Given the description of an element on the screen output the (x, y) to click on. 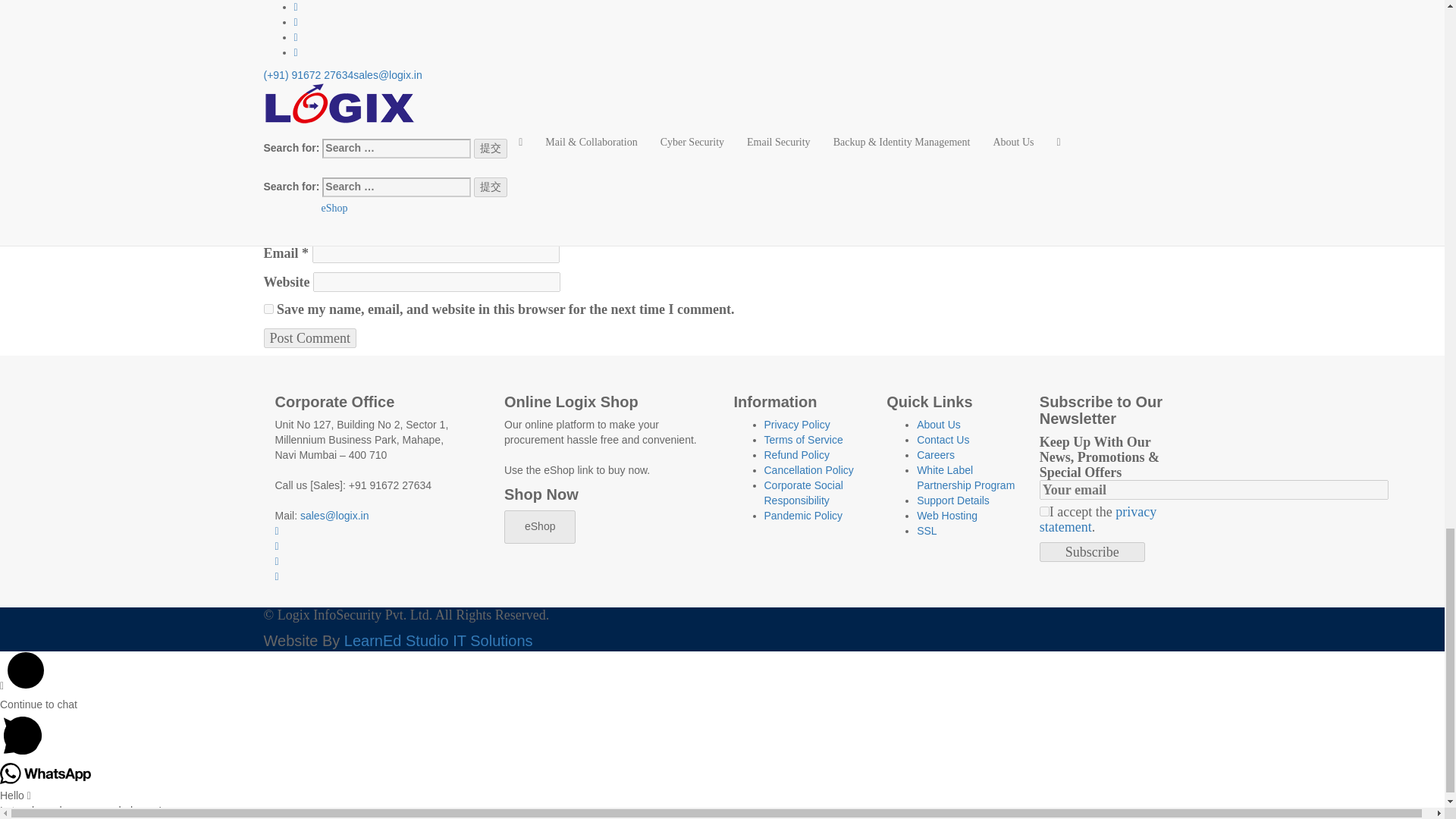
Post Comment (309, 338)
WhatsApp (45, 772)
1 (1044, 511)
yes (268, 308)
Subscribe (1091, 551)
